Given the description of an element on the screen output the (x, y) to click on. 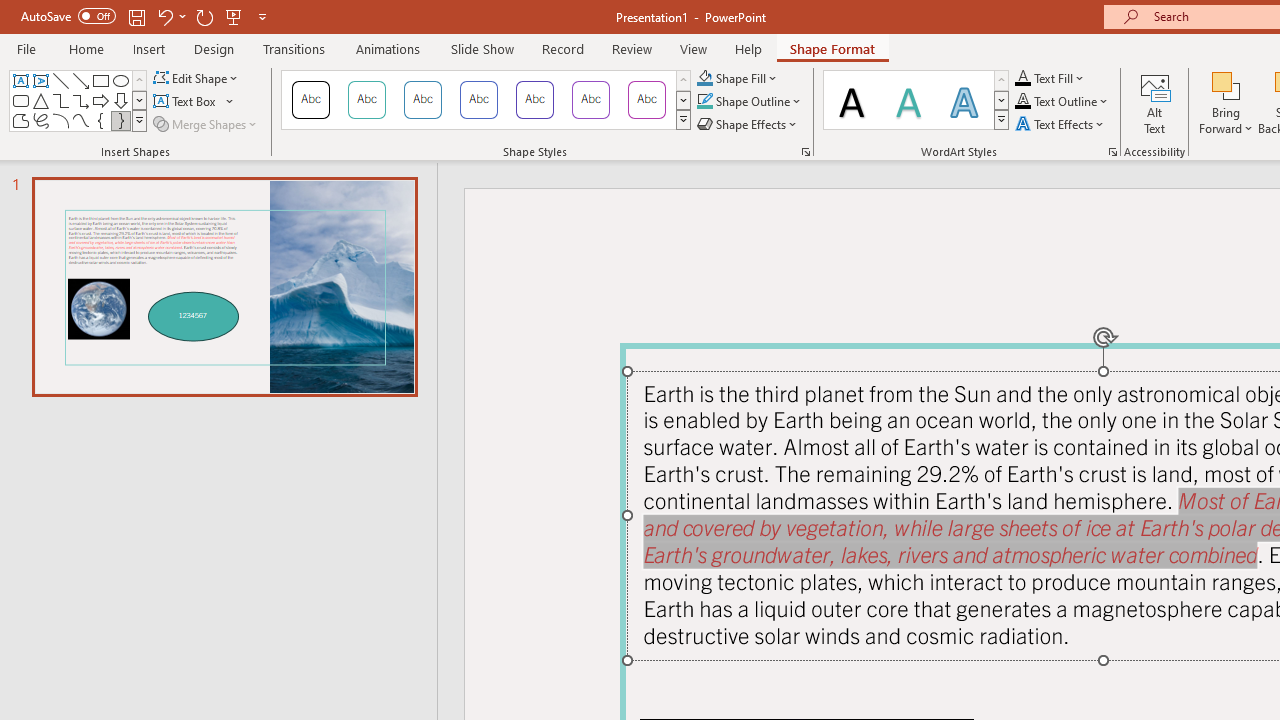
Redo (204, 15)
Transitions (294, 48)
Colored Outline - Purple, Accent 4 (534, 100)
Line (60, 80)
Format Object... (805, 151)
Text Outline RGB(0, 0, 0) (1023, 101)
Left Brace (100, 120)
Colored Outline - Purple, Accent 5 (591, 100)
Merge Shapes (206, 124)
Class: NetUIImage (1002, 119)
AutomationID: TextStylesGallery (916, 99)
Slide Show (481, 48)
Shape Fill (737, 78)
